Given the description of an element on the screen output the (x, y) to click on. 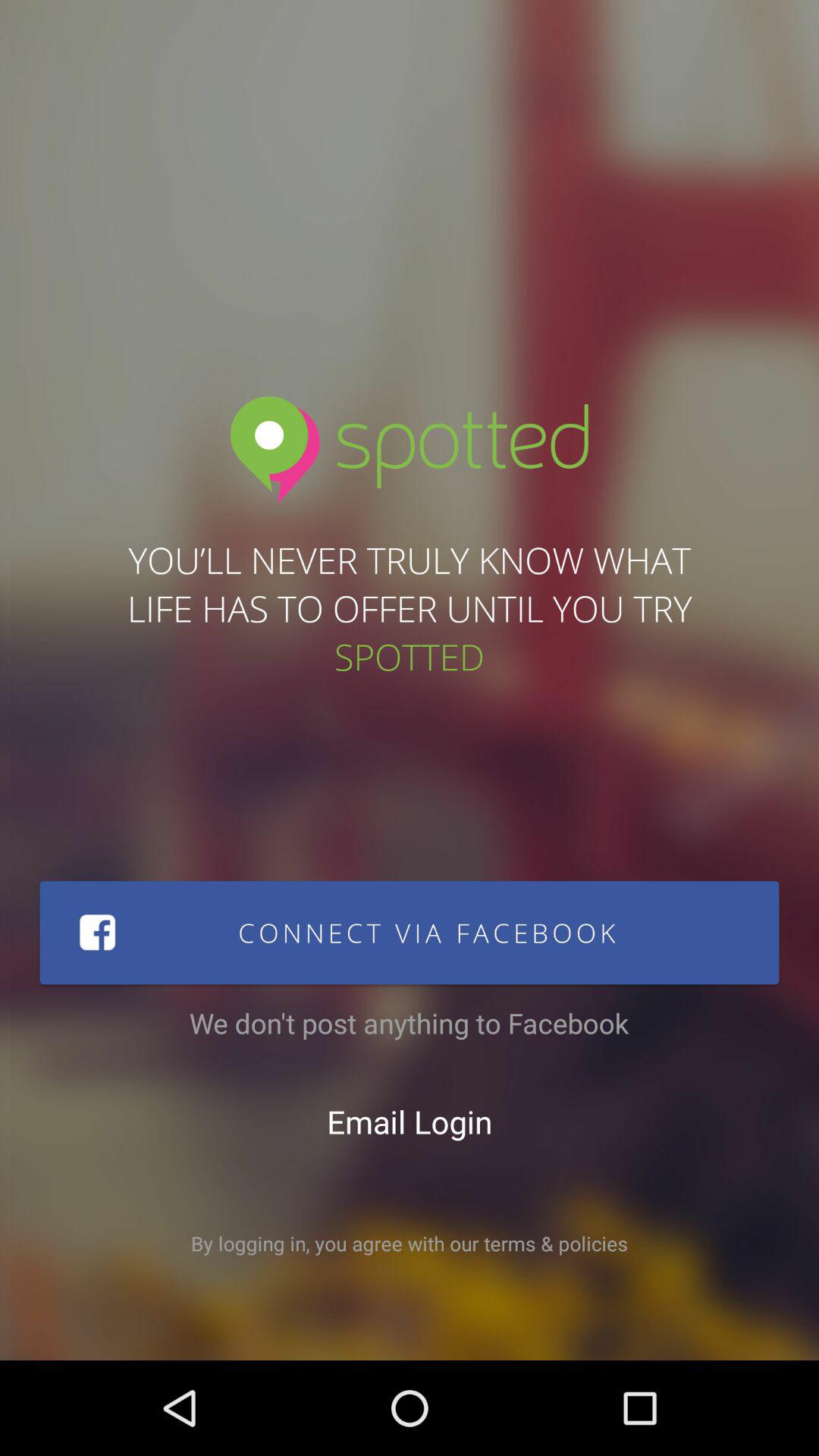
choose the email login icon (409, 1121)
